Given the description of an element on the screen output the (x, y) to click on. 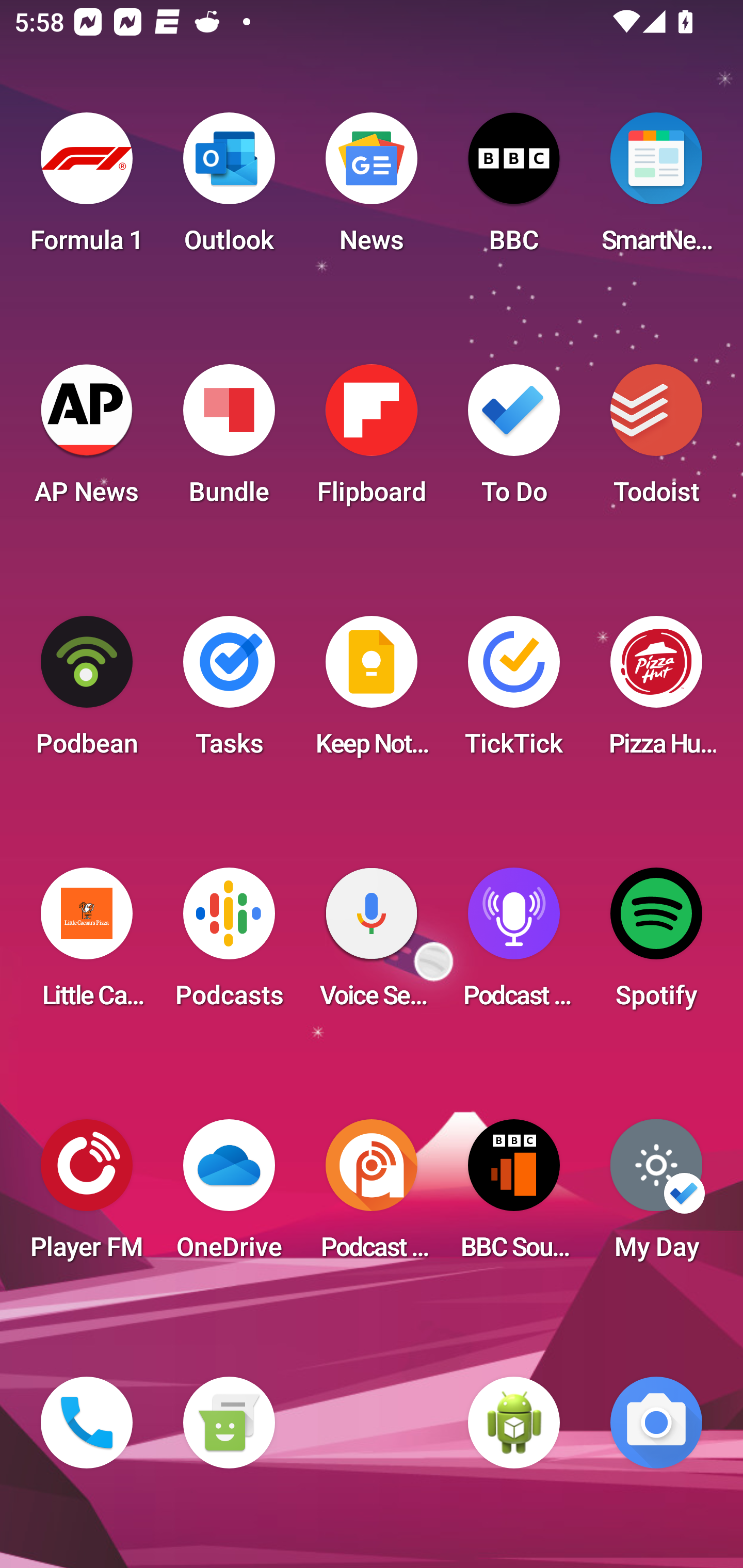
Formula 1 (86, 188)
Outlook (228, 188)
News (371, 188)
BBC (513, 188)
SmartNews (656, 188)
AP News (86, 440)
Bundle (228, 440)
Flipboard (371, 440)
To Do (513, 440)
Todoist (656, 440)
Podbean (86, 692)
Tasks (228, 692)
Keep Notes (371, 692)
TickTick (513, 692)
Pizza Hut HK & Macau (656, 692)
Little Caesars Pizza (86, 943)
Podcasts (228, 943)
Voice Search (371, 943)
Podcast Player (513, 943)
Spotify (656, 943)
Player FM (86, 1195)
OneDrive (228, 1195)
Podcast Addict (371, 1195)
BBC Sounds (513, 1195)
My Day (656, 1195)
Phone (86, 1422)
Messaging (228, 1422)
WebView Browser Tester (513, 1422)
Camera (656, 1422)
